Given the description of an element on the screen output the (x, y) to click on. 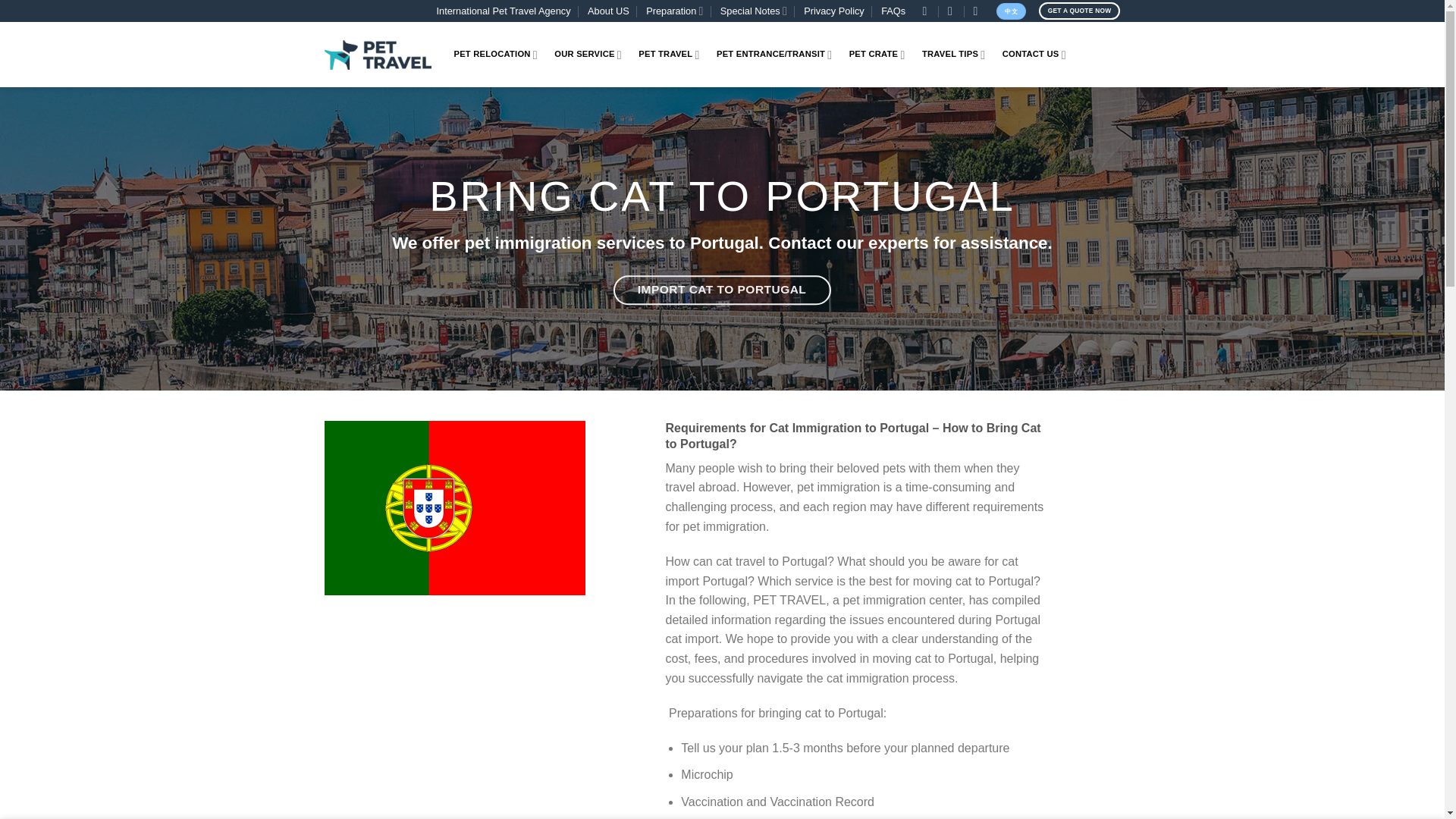
Preparation (674, 11)
International Pet Travel Agency (503, 11)
Special Notes (753, 11)
Pet Travel (377, 54)
PET RELOCATION (494, 54)
About US (608, 11)
Privacy Policy (833, 11)
GET A QUOTE NOW (1080, 10)
FAQs (892, 11)
